Given the description of an element on the screen output the (x, y) to click on. 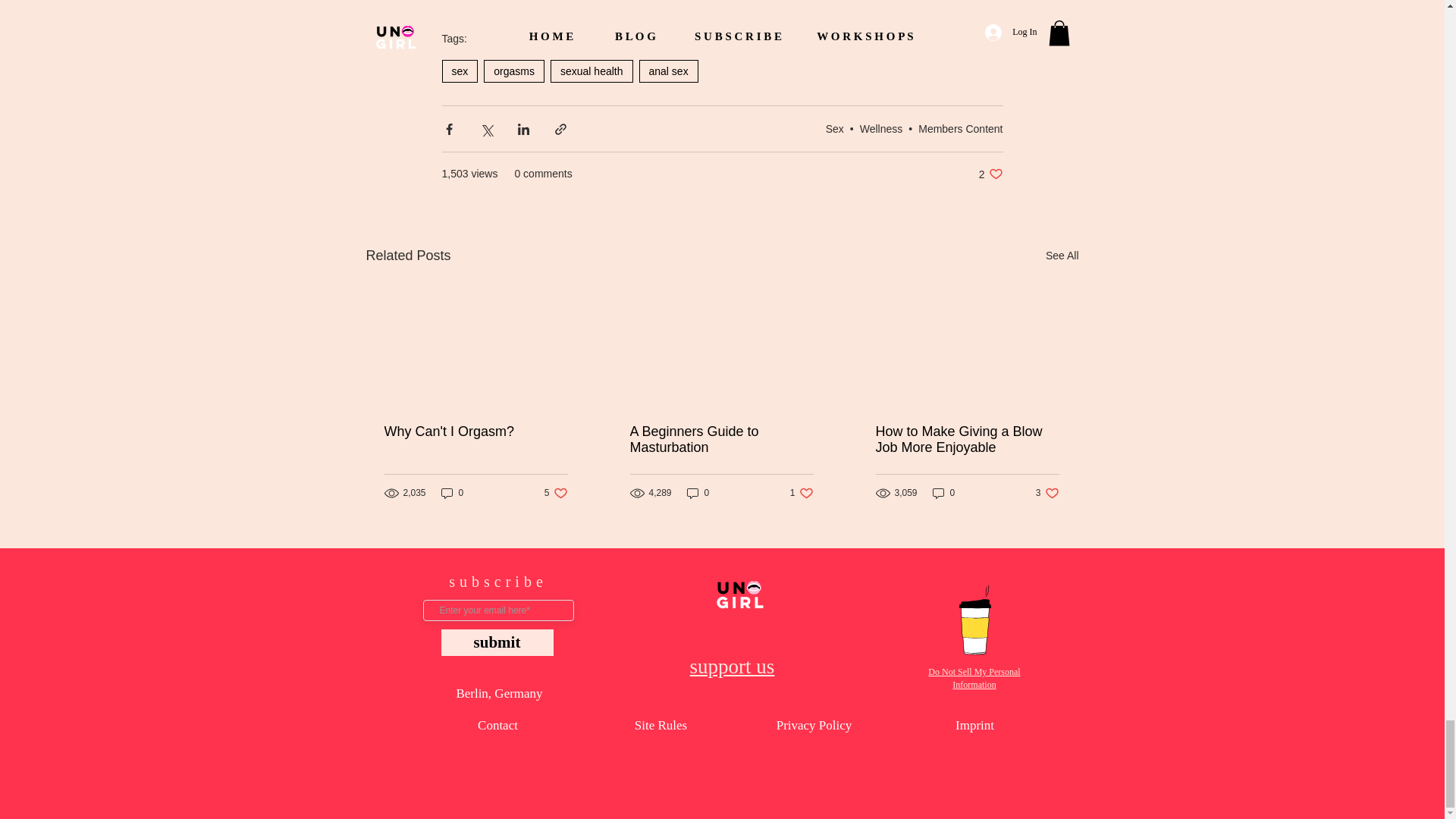
Why Can't I Orgasm? (475, 431)
0 (698, 493)
0 (452, 493)
sex (459, 70)
Members Content (960, 128)
Wellness (881, 128)
Sex (834, 128)
See All (1061, 255)
orgasms (513, 70)
